Given the description of an element on the screen output the (x, y) to click on. 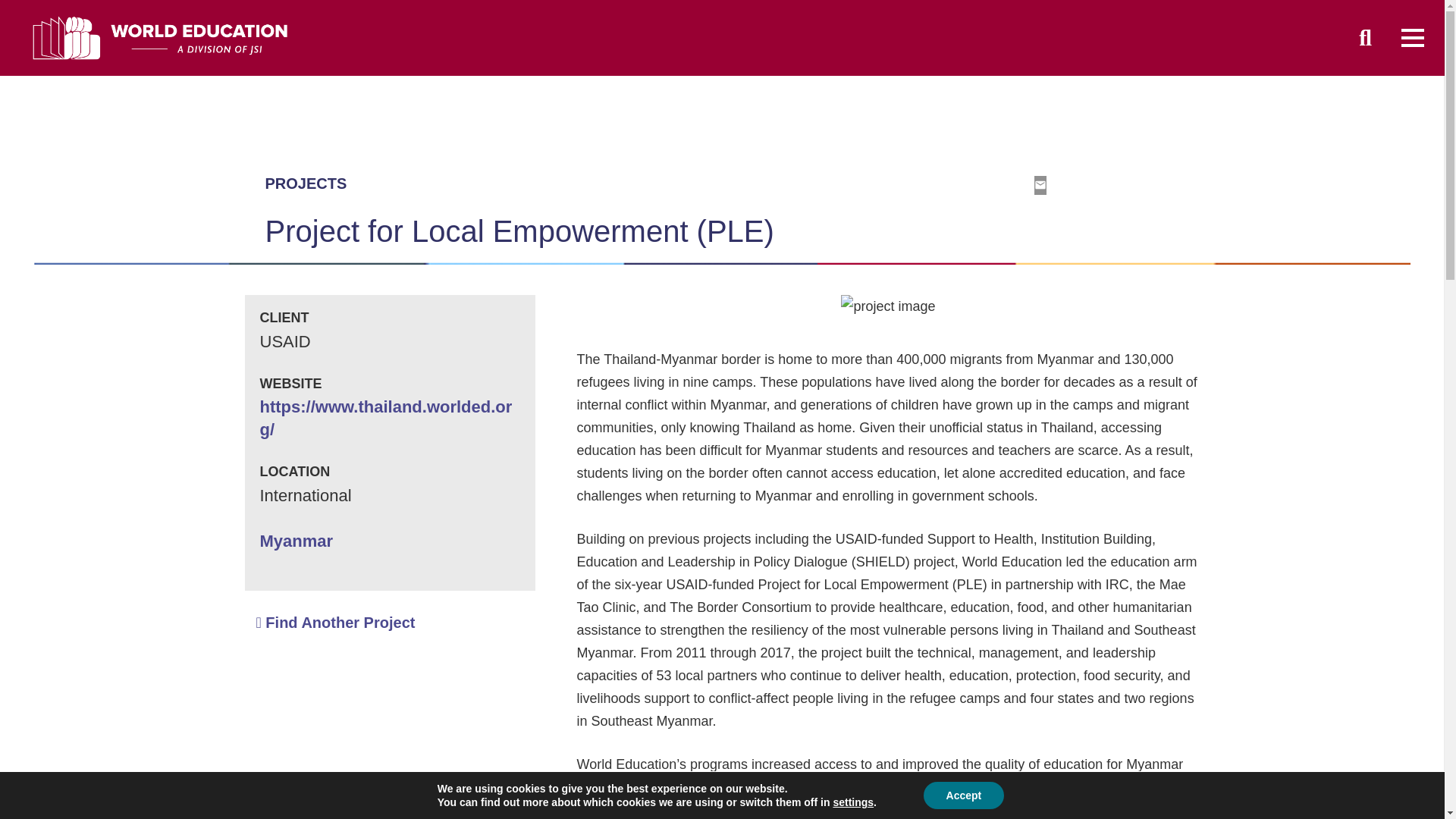
Find Another Project (335, 622)
Myanmar (296, 540)
